Given the description of an element on the screen output the (x, y) to click on. 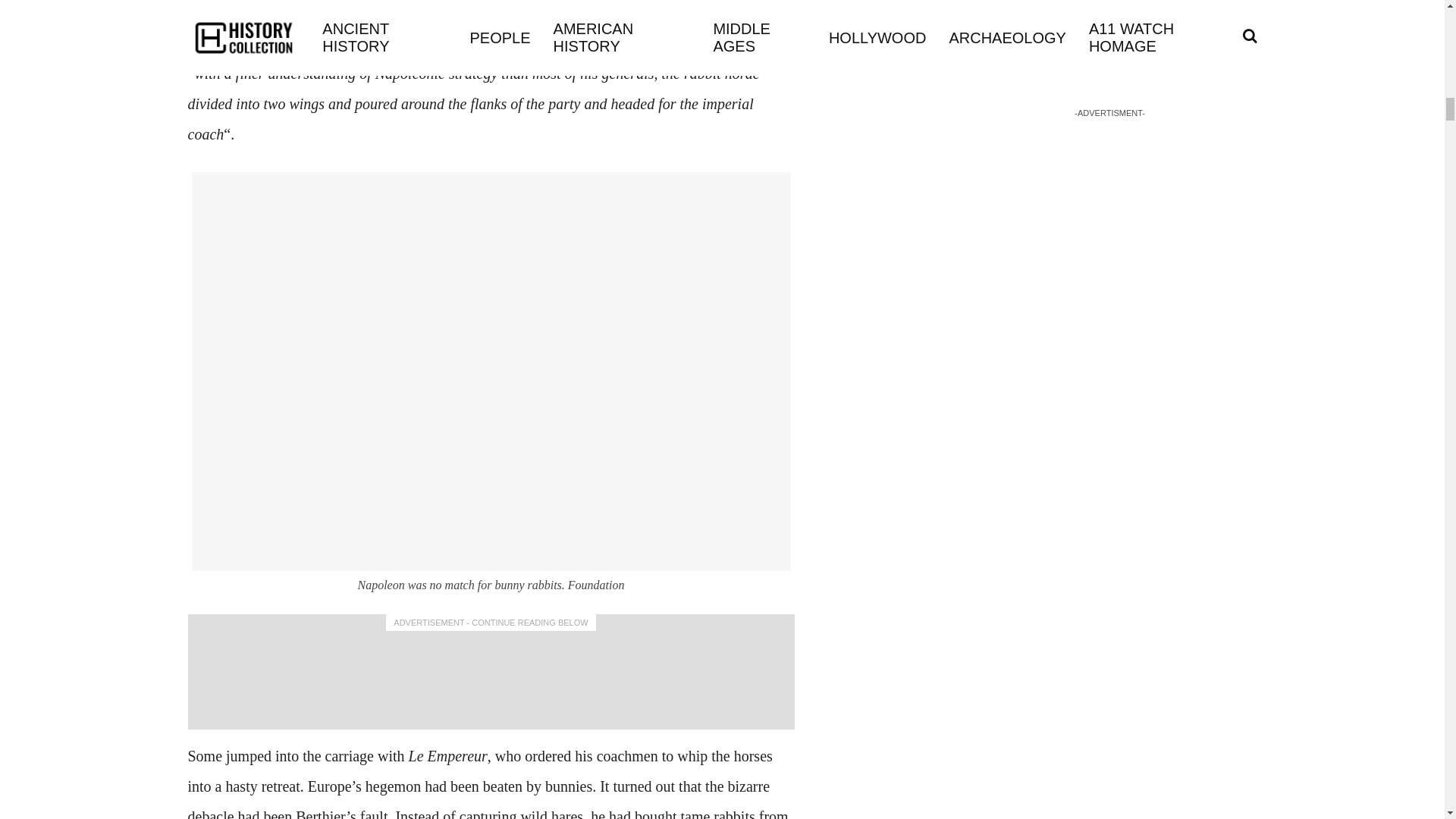
Napoleon fled to his carriage (419, 43)
